Given the description of an element on the screen output the (x, y) to click on. 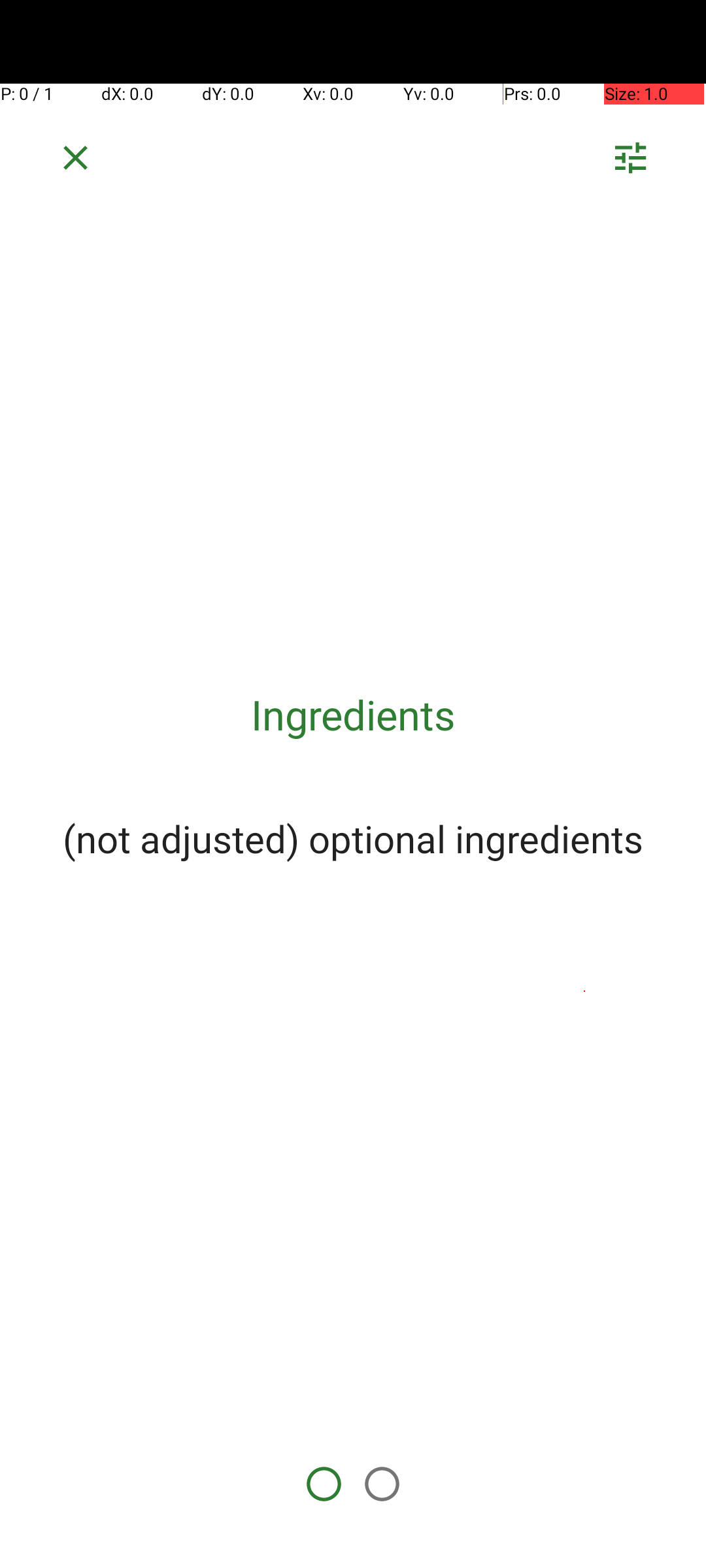
(not adjusted) optional ingredients Element type: android.widget.TextView (352, 838)
